Given the description of an element on the screen output the (x, y) to click on. 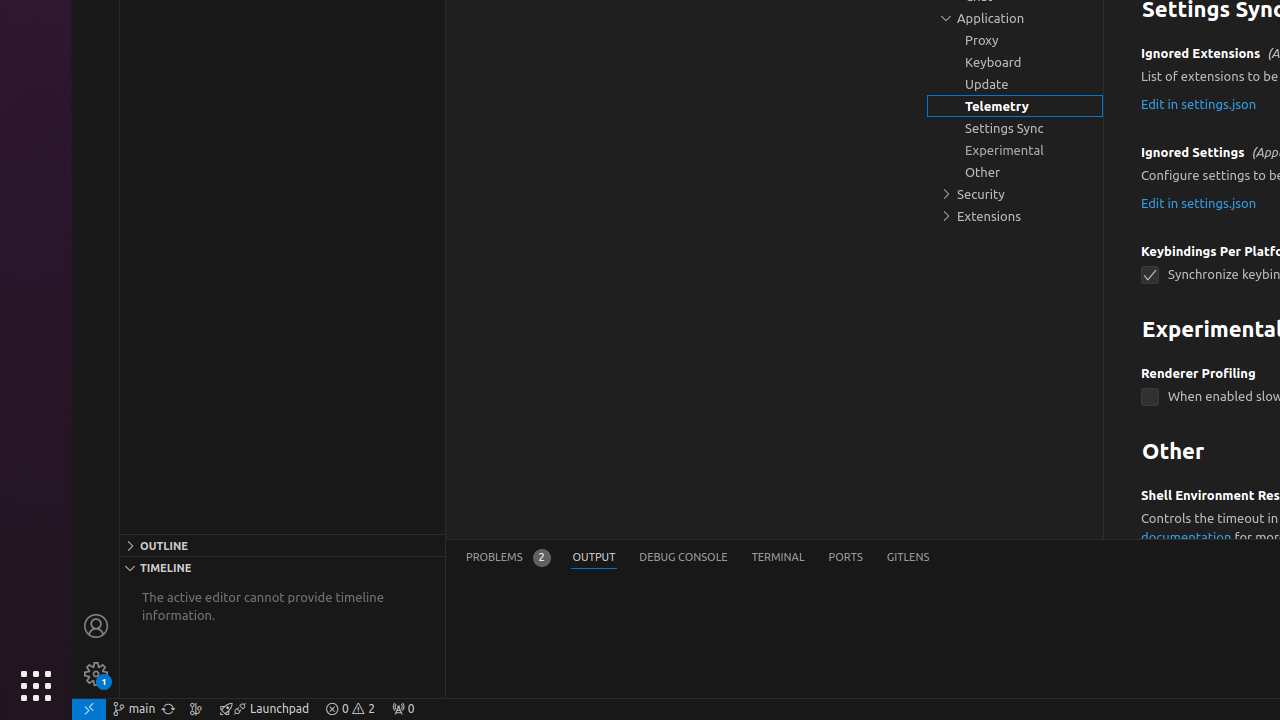
Keyboard, group Element type: tree-item (1015, 62)
Experimental, group Element type: tree-item (1015, 150)
Security, group Element type: tree-item (1015, 194)
settingsSync.keybindingsPerPlatform Element type: check-box (1150, 275)
Output (Ctrl+K Ctrl+H) Element type: page-tab (594, 557)
